Given the description of an element on the screen output the (x, y) to click on. 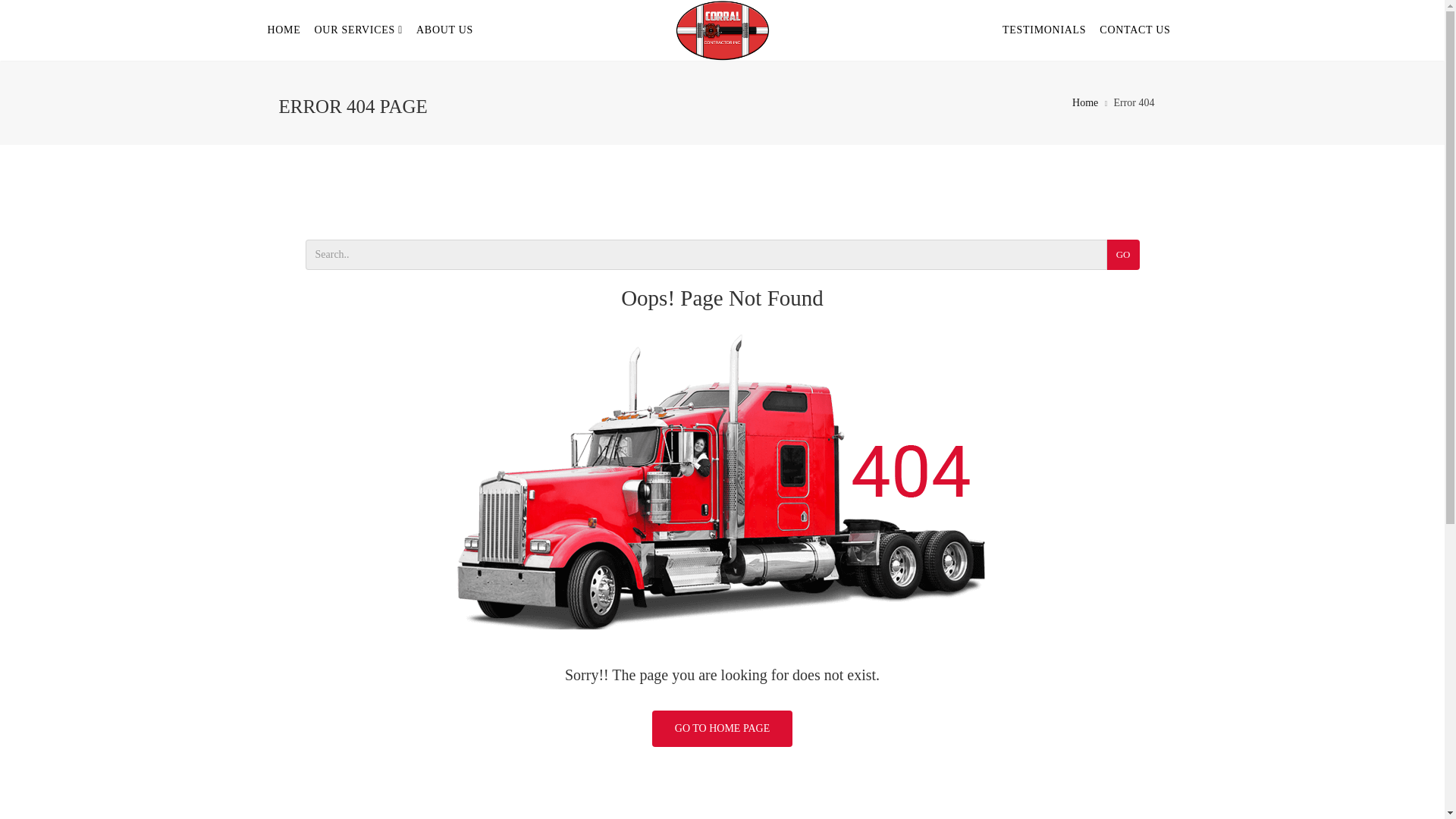
GO (1123, 254)
Home (1084, 102)
Corral Contractors - Full Site Services (721, 30)
ABOUT US (444, 30)
CONTACT US (1134, 30)
TESTIMONIALS (1044, 30)
OUR SERVICES (358, 30)
